Given the description of an element on the screen output the (x, y) to click on. 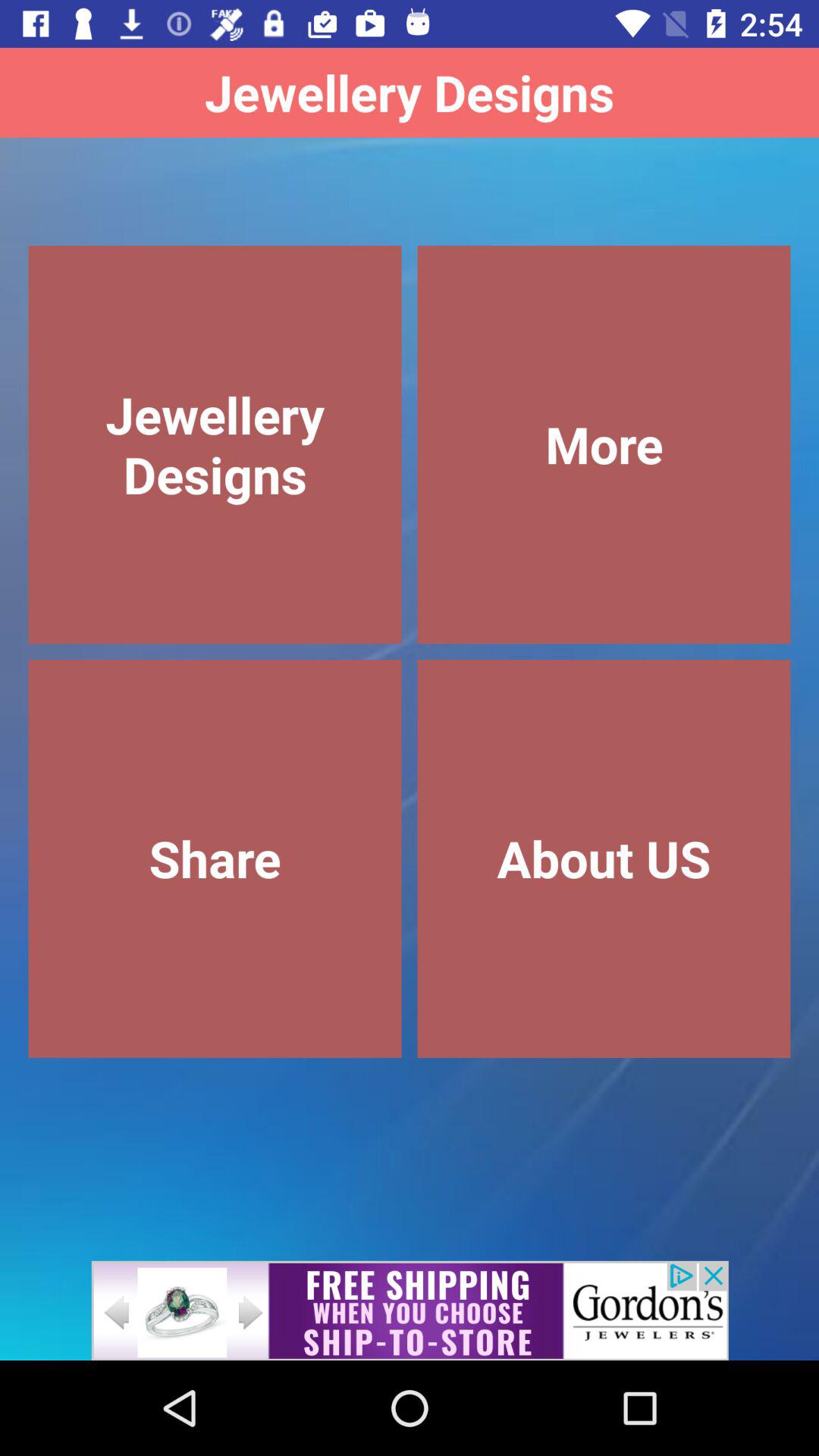
link to gordon 's jewelers site (409, 1310)
